Given the description of an element on the screen output the (x, y) to click on. 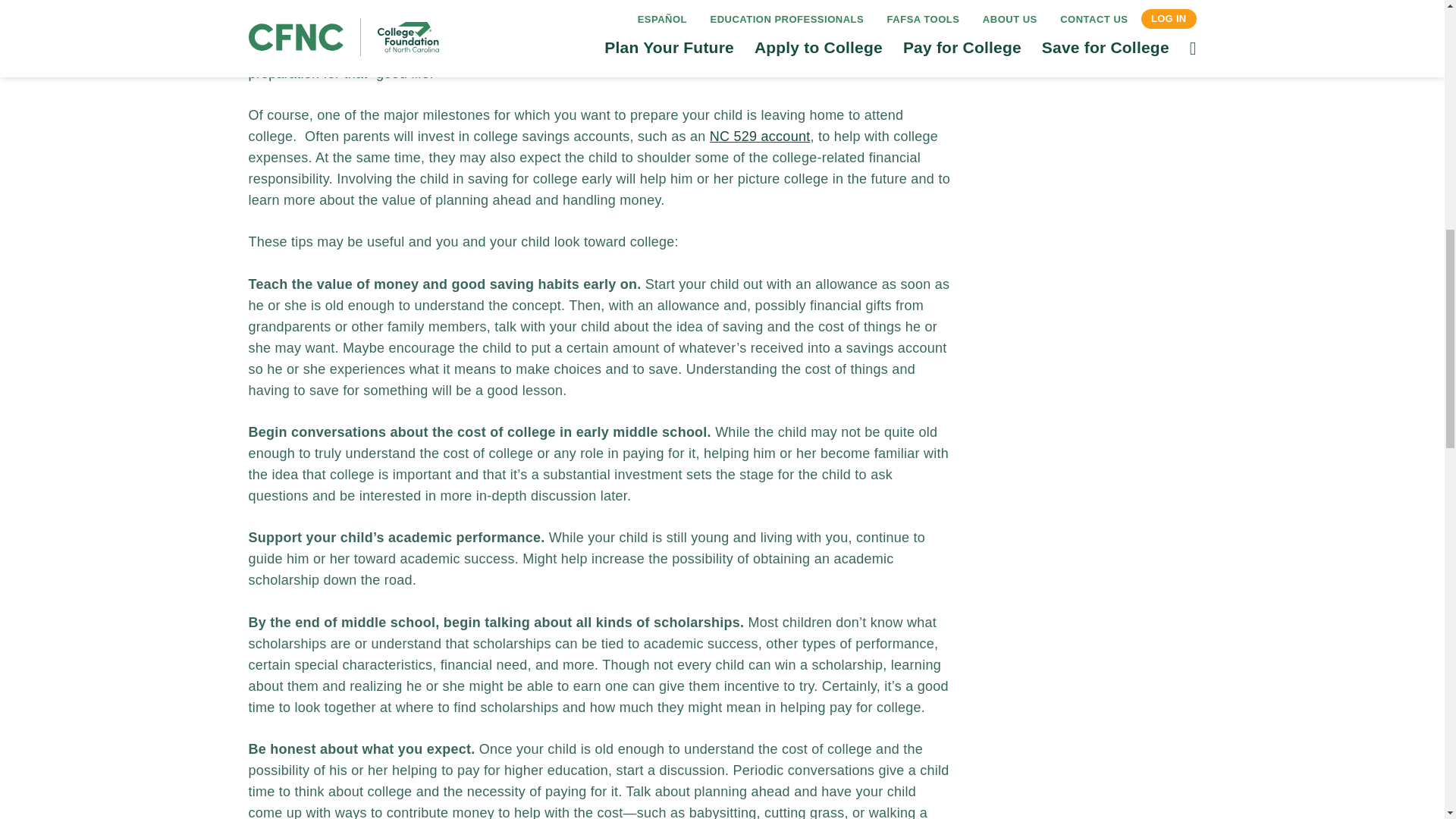
NC 529 Account (760, 136)
